Given the description of an element on the screen output the (x, y) to click on. 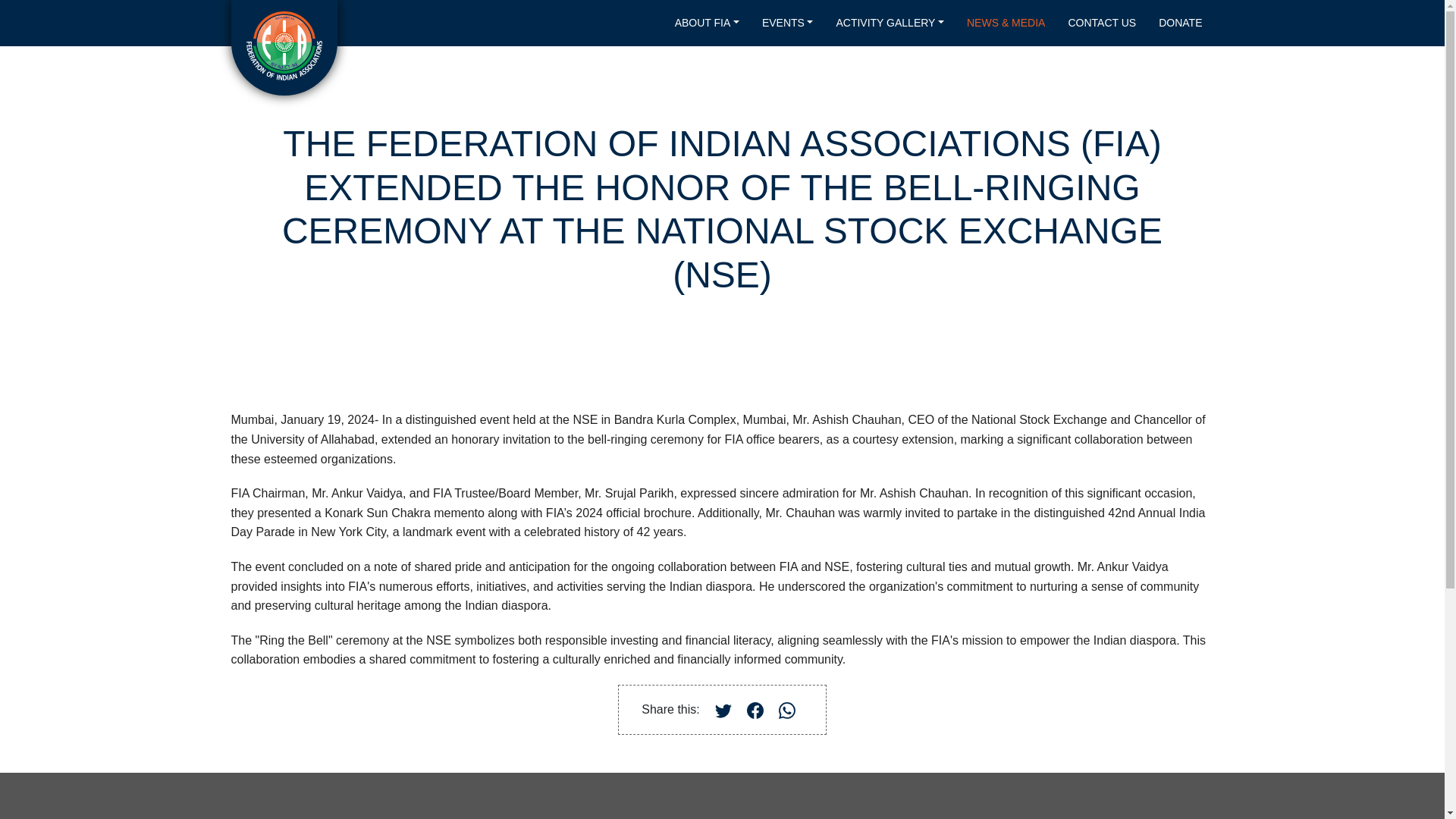
ABOUT FIA (707, 22)
CONTACT US (1101, 22)
ACTIVITY GALLERY (889, 22)
DONATE (1180, 22)
Federation Of Indian Associations (283, 45)
EVENTS (787, 22)
